Given the description of an element on the screen output the (x, y) to click on. 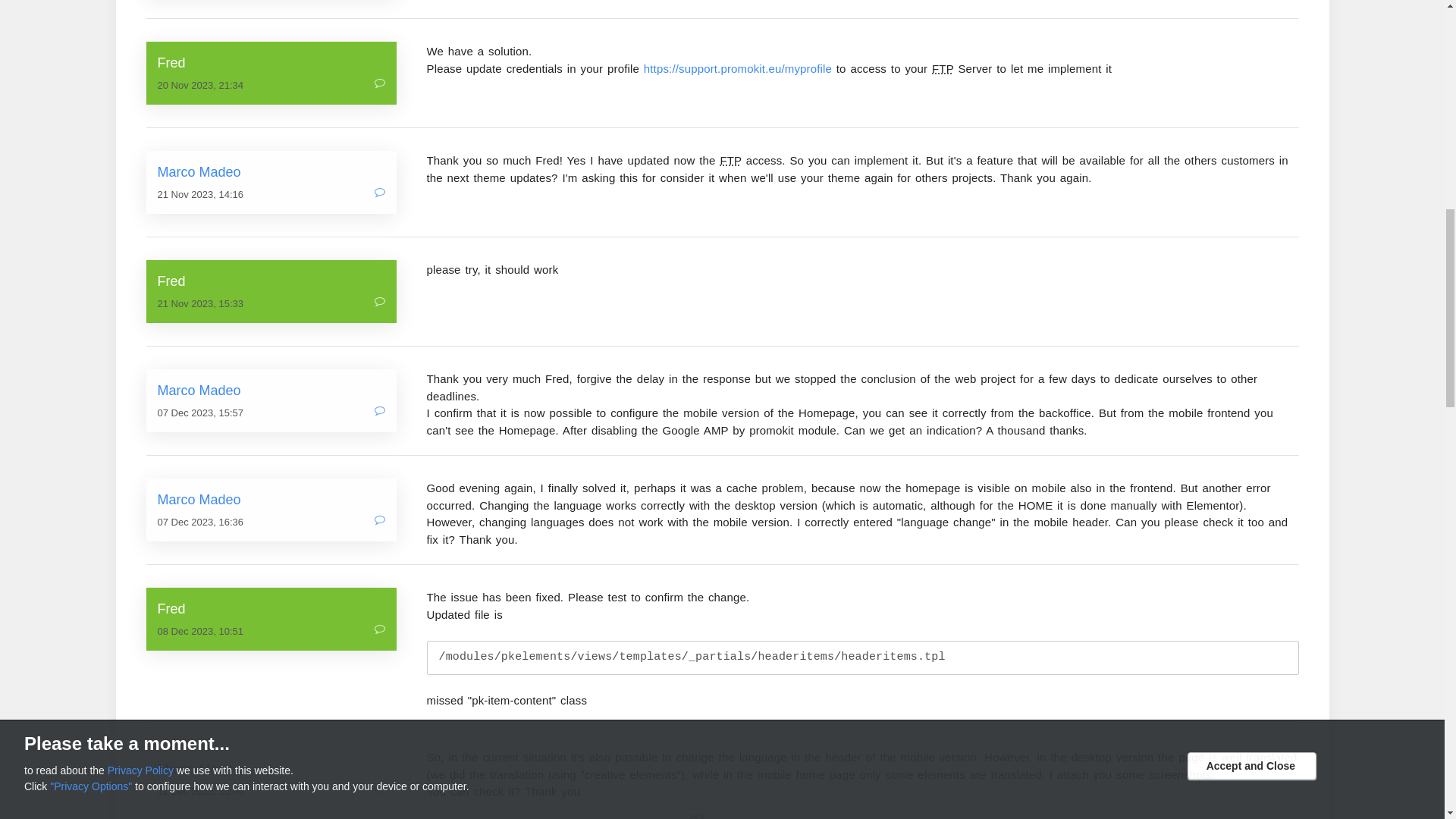
Marco Madeo (271, 172)
Fred (271, 63)
Marco Madeo (271, 499)
fred (271, 281)
Fred (271, 281)
marcomadeo (271, 172)
Fred (271, 608)
Marco Madeo (271, 390)
marcomadeo (271, 499)
marcomadeo (271, 390)
File Transfer Protocol (942, 68)
Marco Madeo (271, 769)
fred (271, 63)
File Transfer Protocol (730, 160)
